Given the description of an element on the screen output the (x, y) to click on. 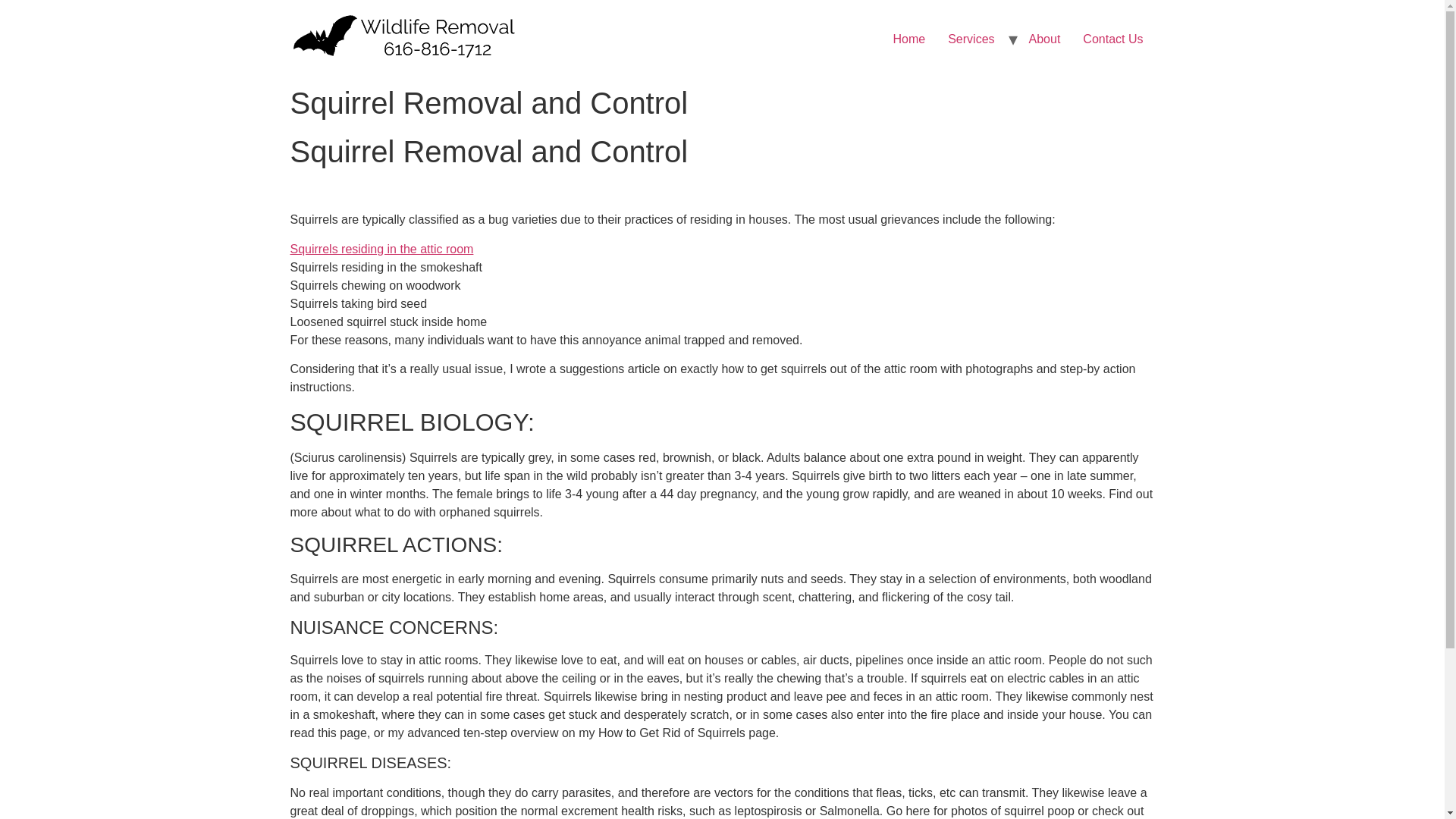
Squirrels residing in the attic room (381, 248)
Services (971, 39)
About (1044, 39)
Home (908, 39)
Contact Us (1112, 39)
